Given the description of an element on the screen output the (x, y) to click on. 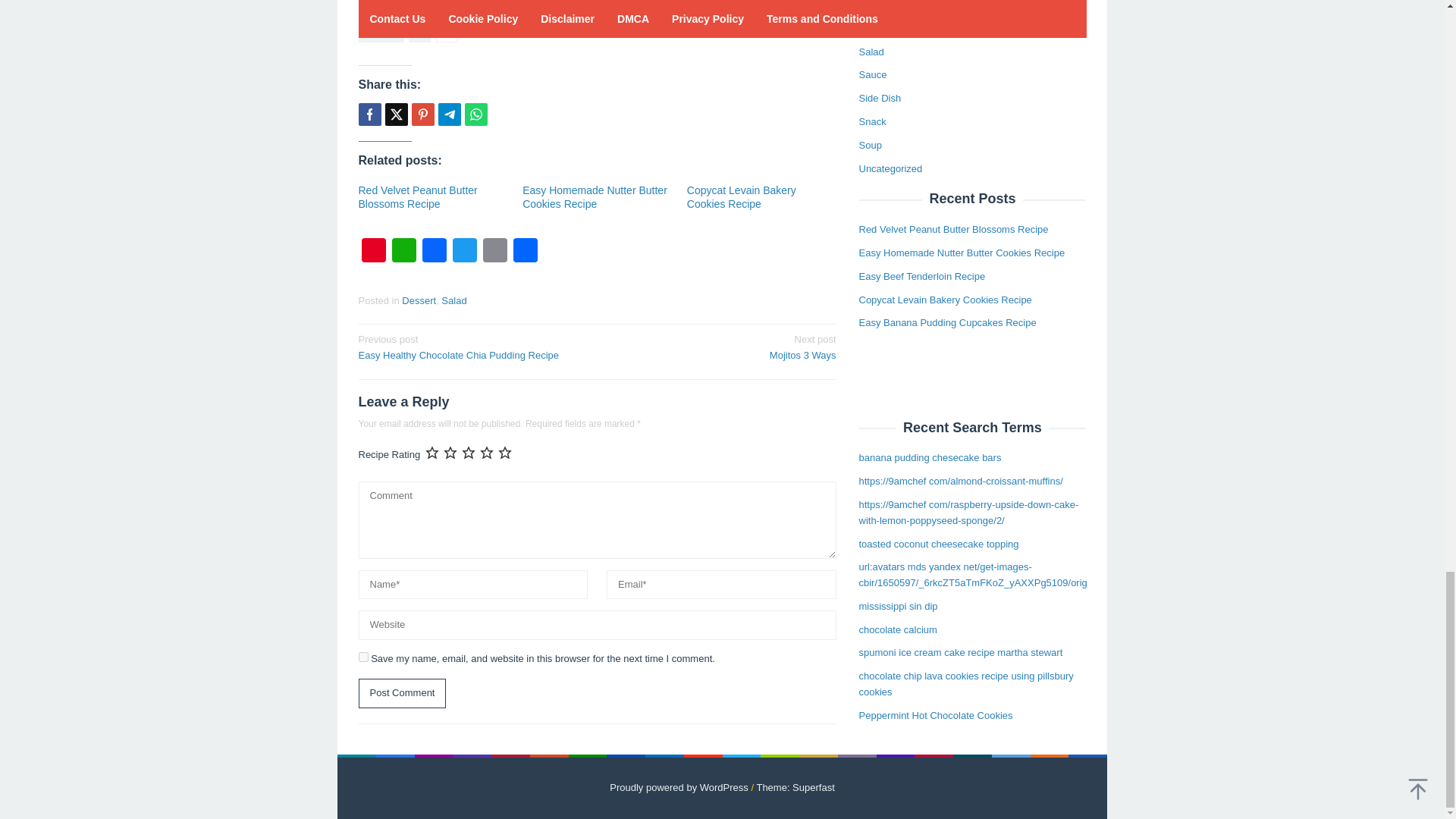
Telegram Share (449, 114)
Facebook (433, 252)
Whatsapp (475, 114)
Pin this (421, 114)
Share (524, 252)
Permalink to: Red Velvet Peanut Butter Blossoms Recipe (417, 196)
Easy Homemade Nutter Butter Cookies Recipe (594, 196)
SHOW RECIPE (596, 5)
Twitter (463, 252)
Copycat Levain Bakery Cookies Recipe (721, 346)
Permalink to: Easy Homemade Nutter Butter Cookies Recipe (741, 196)
Salad (594, 196)
Post Comment (453, 300)
